Given the description of an element on the screen output the (x, y) to click on. 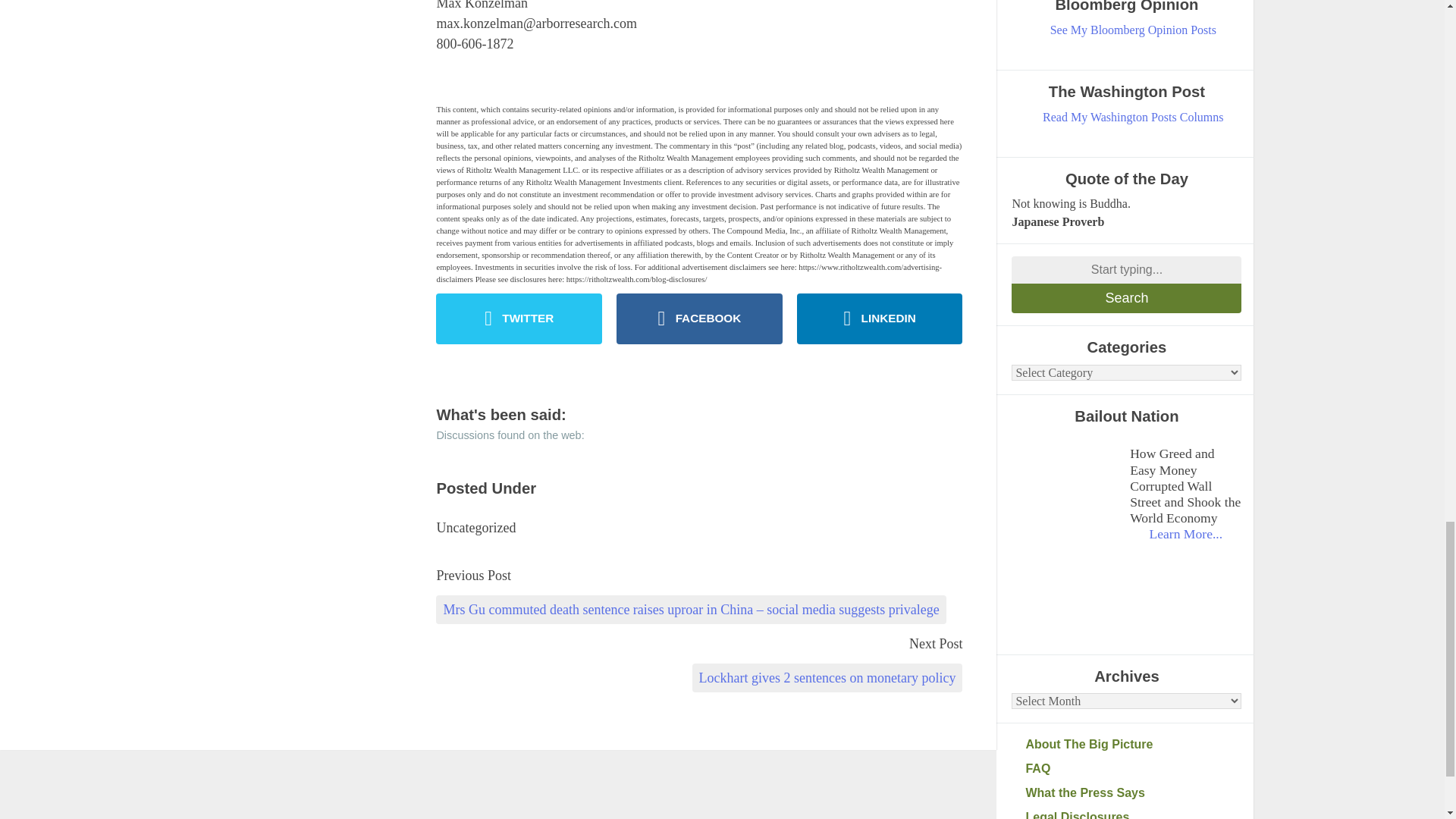
FACEBOOK (699, 318)
LINKEDIN (879, 318)
See My Bloomberg Opinion Posts (1132, 30)
Legal Disclosures (1133, 813)
Learn More... (1185, 534)
What the Press Says (1133, 792)
Read My Washington Posts Columns (1132, 117)
Search (1126, 297)
About The Big Picture (1133, 744)
TWITTER (518, 318)
